Given the description of an element on the screen output the (x, y) to click on. 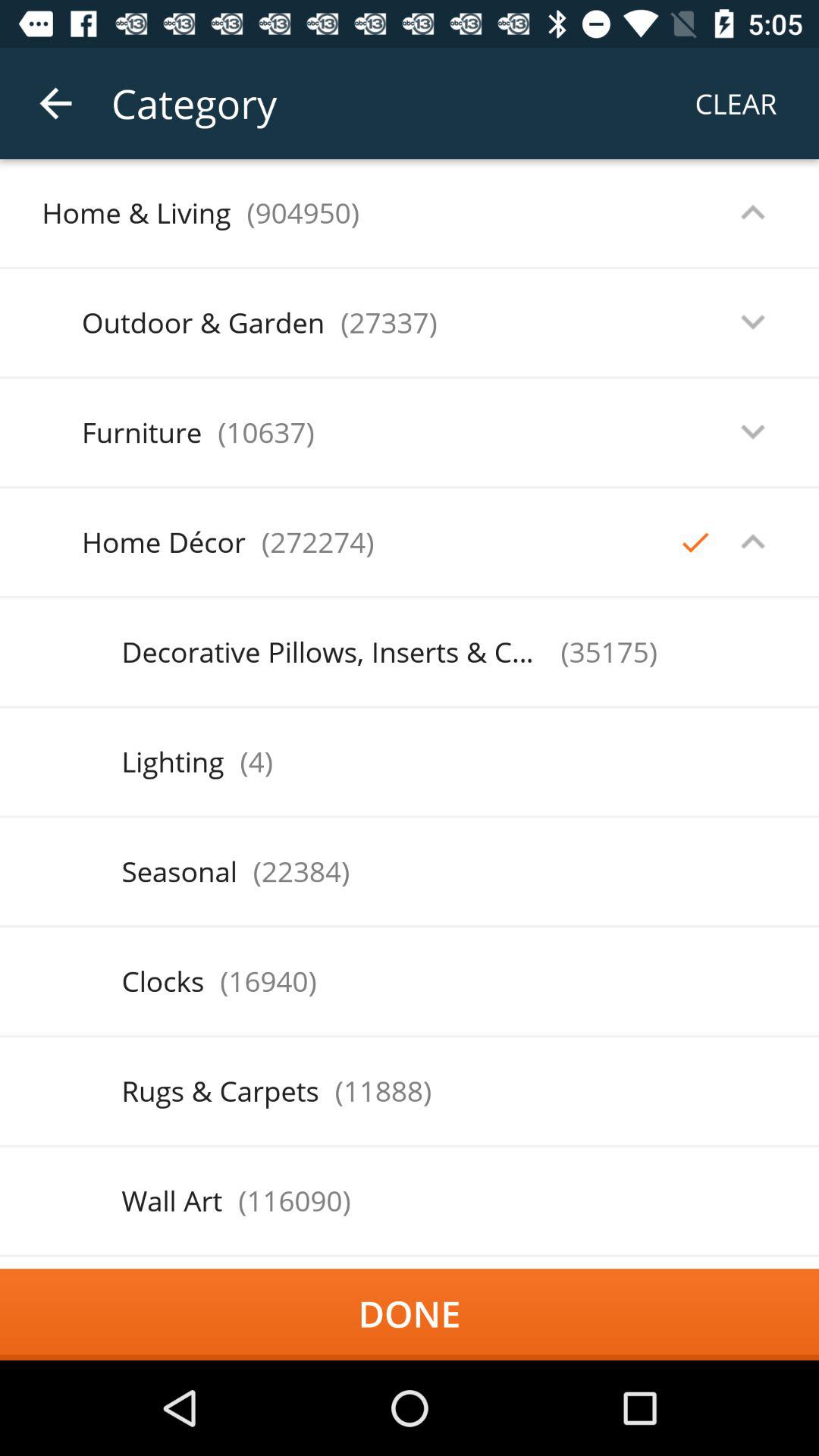
turn on icon to the left of the category (55, 103)
